Given the description of an element on the screen output the (x, y) to click on. 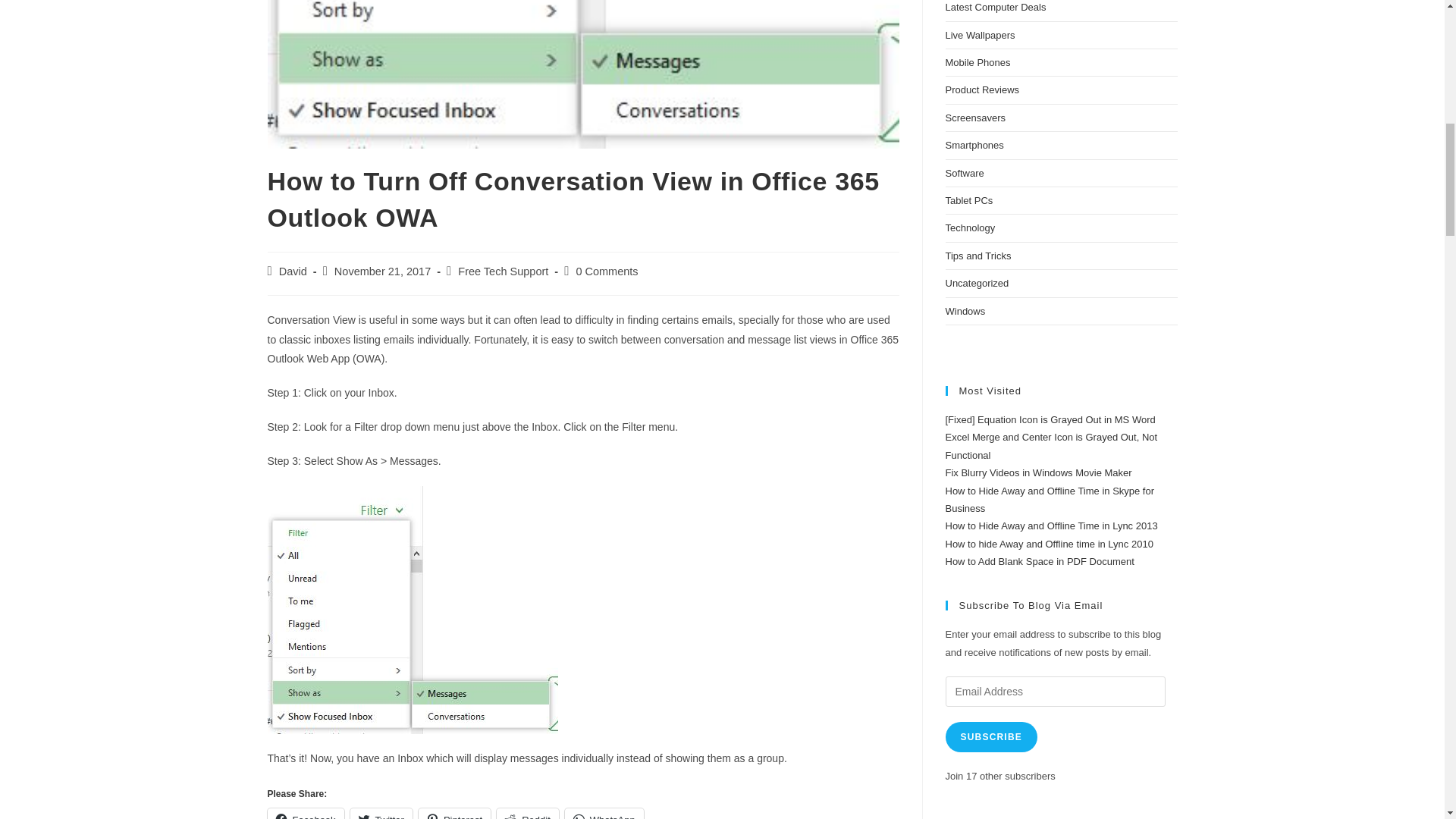
Click to share on Reddit (527, 813)
Click to share on Pinterest (454, 813)
WhatsApp (603, 813)
David (293, 271)
Click to share on Facebook (304, 813)
Posts by David (293, 271)
Twitter (381, 813)
Click to share on Twitter (381, 813)
Click to share on WhatsApp (603, 813)
0 Comments (606, 271)
